Given the description of an element on the screen output the (x, y) to click on. 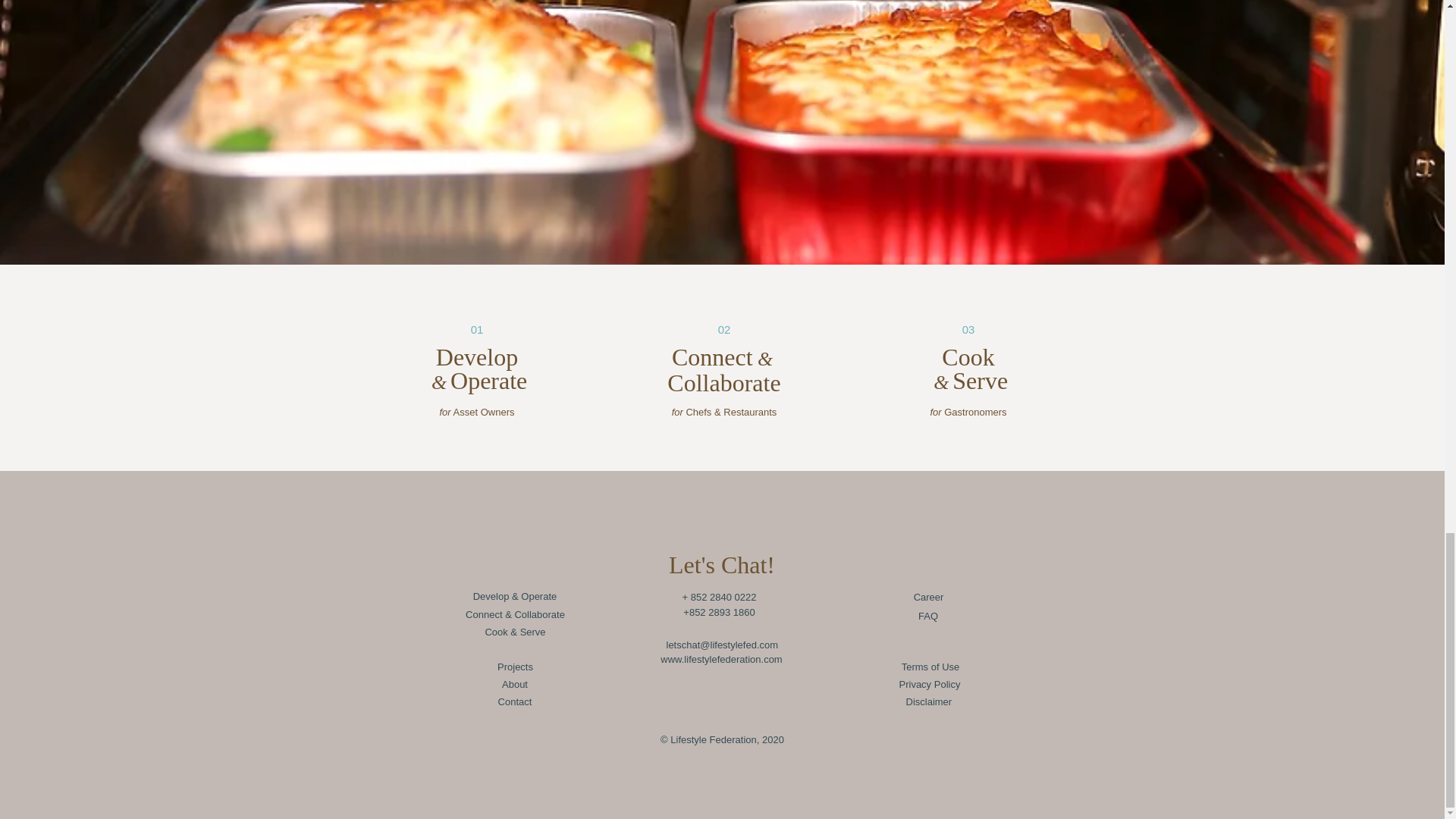
Contact (514, 702)
About (514, 684)
Projects (515, 667)
www.lifestylefederation.com (721, 659)
FAQ (927, 616)
Terms of Use (930, 667)
Disclaimer (928, 702)
Privacy Policy (929, 684)
Career (927, 597)
